Given the description of an element on the screen output the (x, y) to click on. 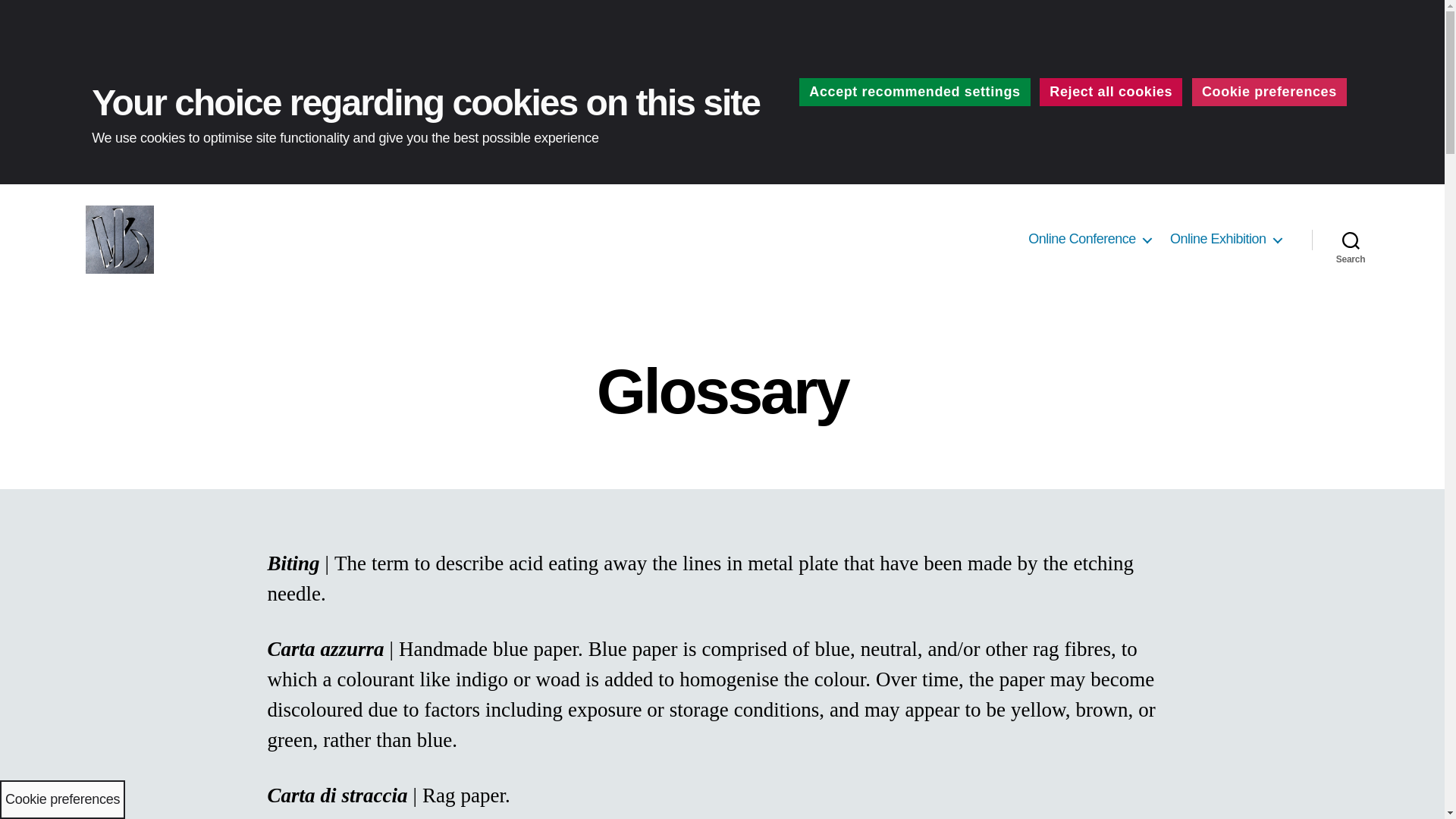
Online Exhibition (1225, 239)
Accept recommended settings (914, 91)
Search (1350, 239)
Cookie preferences (1269, 91)
Online Conference (1089, 239)
Reject all cookies (1110, 91)
